Given the description of an element on the screen output the (x, y) to click on. 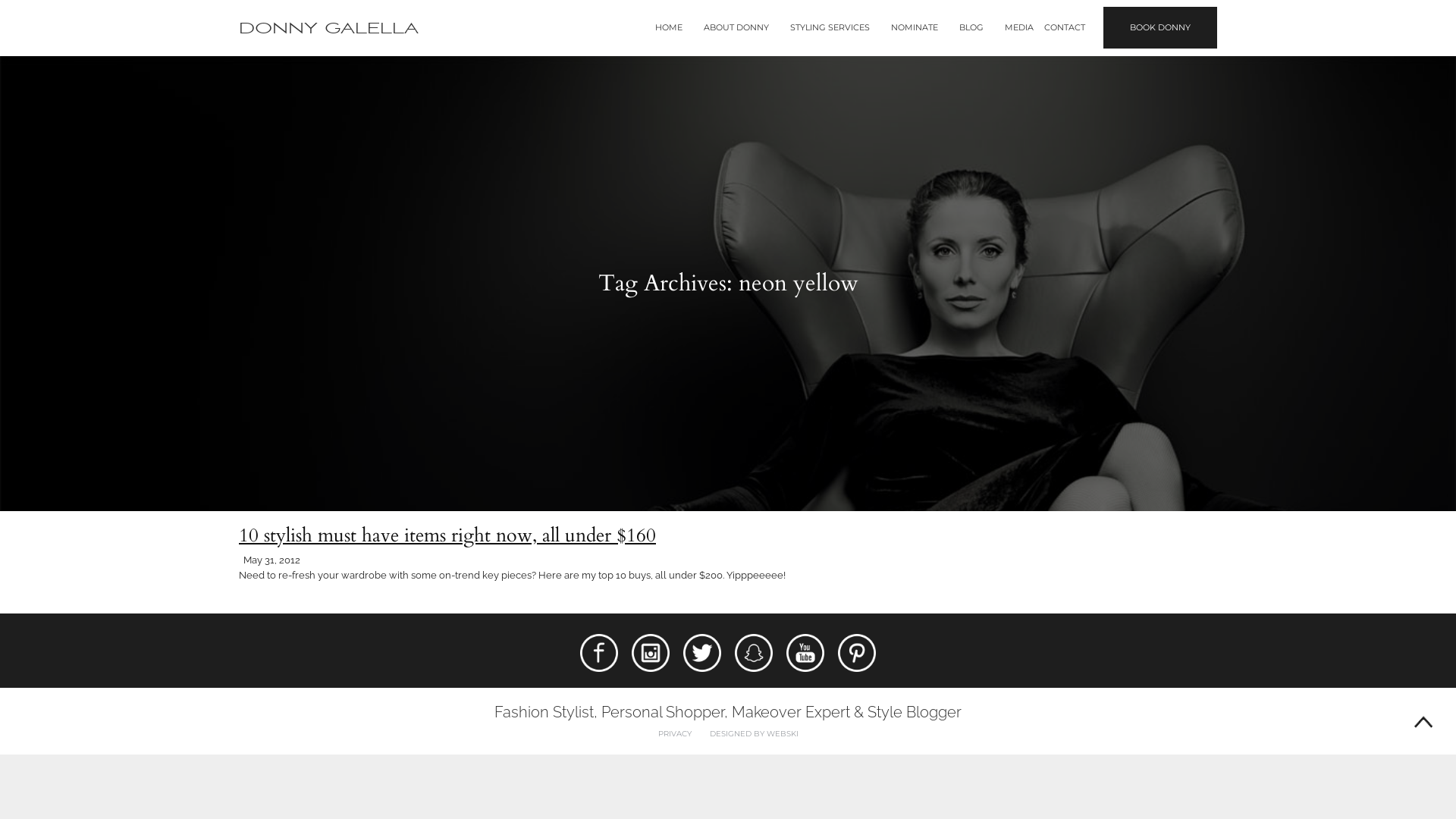
BOOK DONNY Element type: text (1160, 27)
CONTACT Element type: text (1064, 27)
MEDIA Element type: text (1018, 27)
BLOG Element type: text (971, 27)
DONNY GALELLA Element type: text (328, 28)
DESIGNED BY WEBSKI Element type: text (753, 733)
PRIVACY Element type: text (674, 733)
ABOUT DONNY Element type: text (735, 27)
NOMINATE Element type: text (914, 27)
HOME Element type: text (668, 27)
10 stylish must have items right now, all under $160 Element type: text (446, 535)
STYLING SERVICES Element type: text (829, 27)
